Given the description of an element on the screen output the (x, y) to click on. 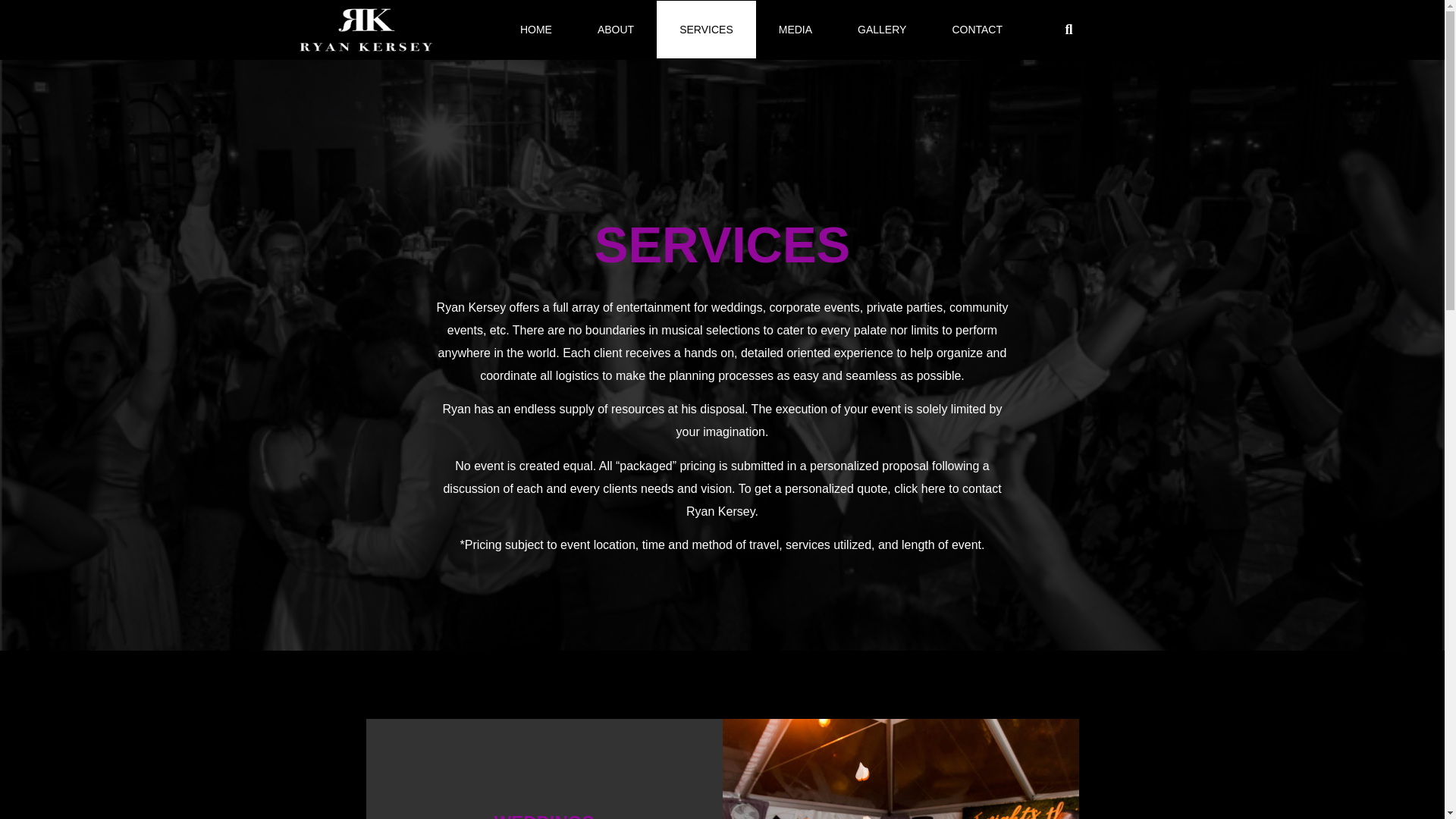
GALLERY (881, 29)
ABOUT (615, 29)
SERVICES (705, 29)
CONTACT (976, 29)
MEDIA (794, 29)
HOME (536, 29)
